Given the description of an element on the screen output the (x, y) to click on. 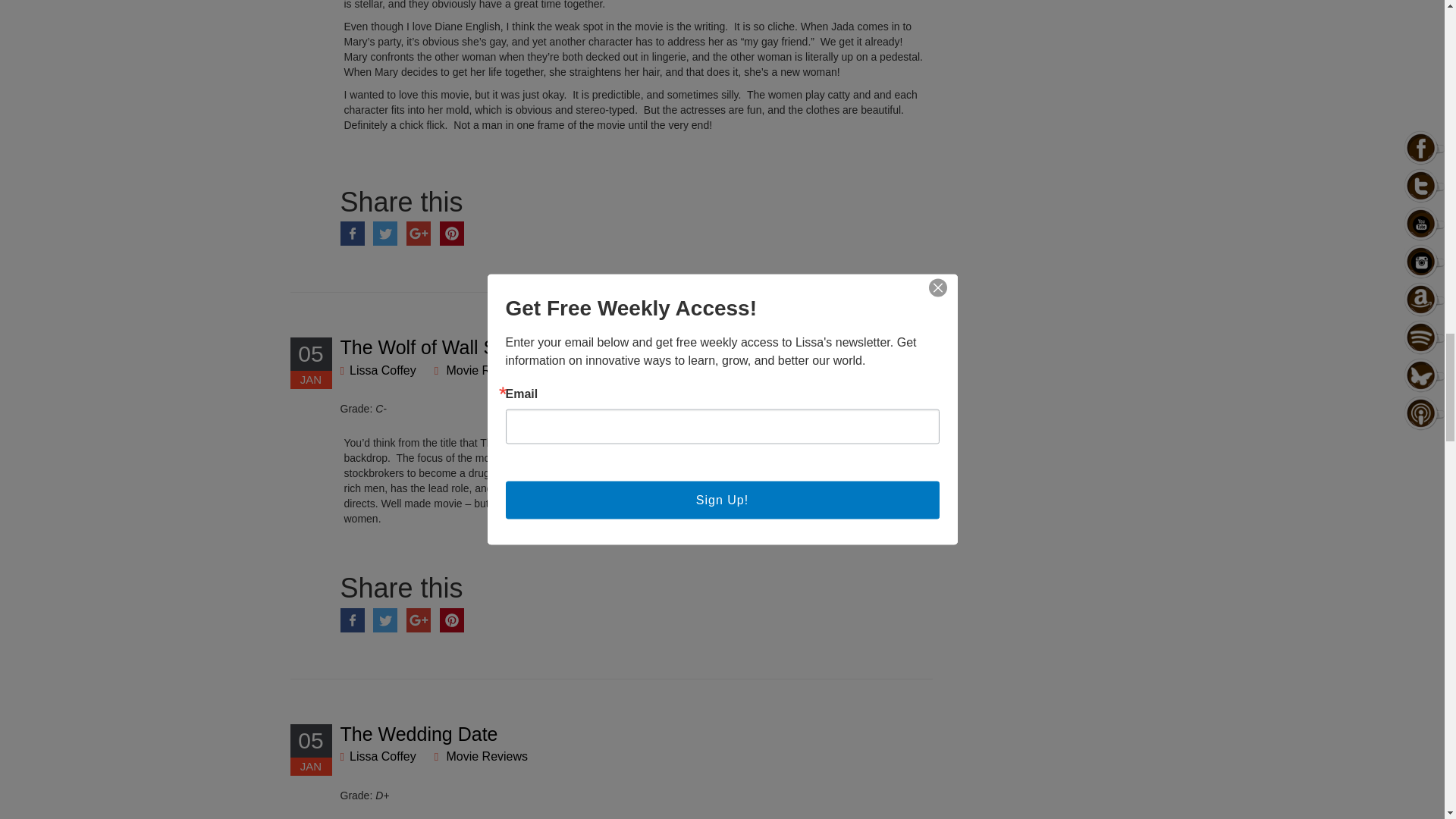
The Wedding Date (418, 733)
The Wolf of Wall Street (436, 346)
